Given the description of an element on the screen output the (x, y) to click on. 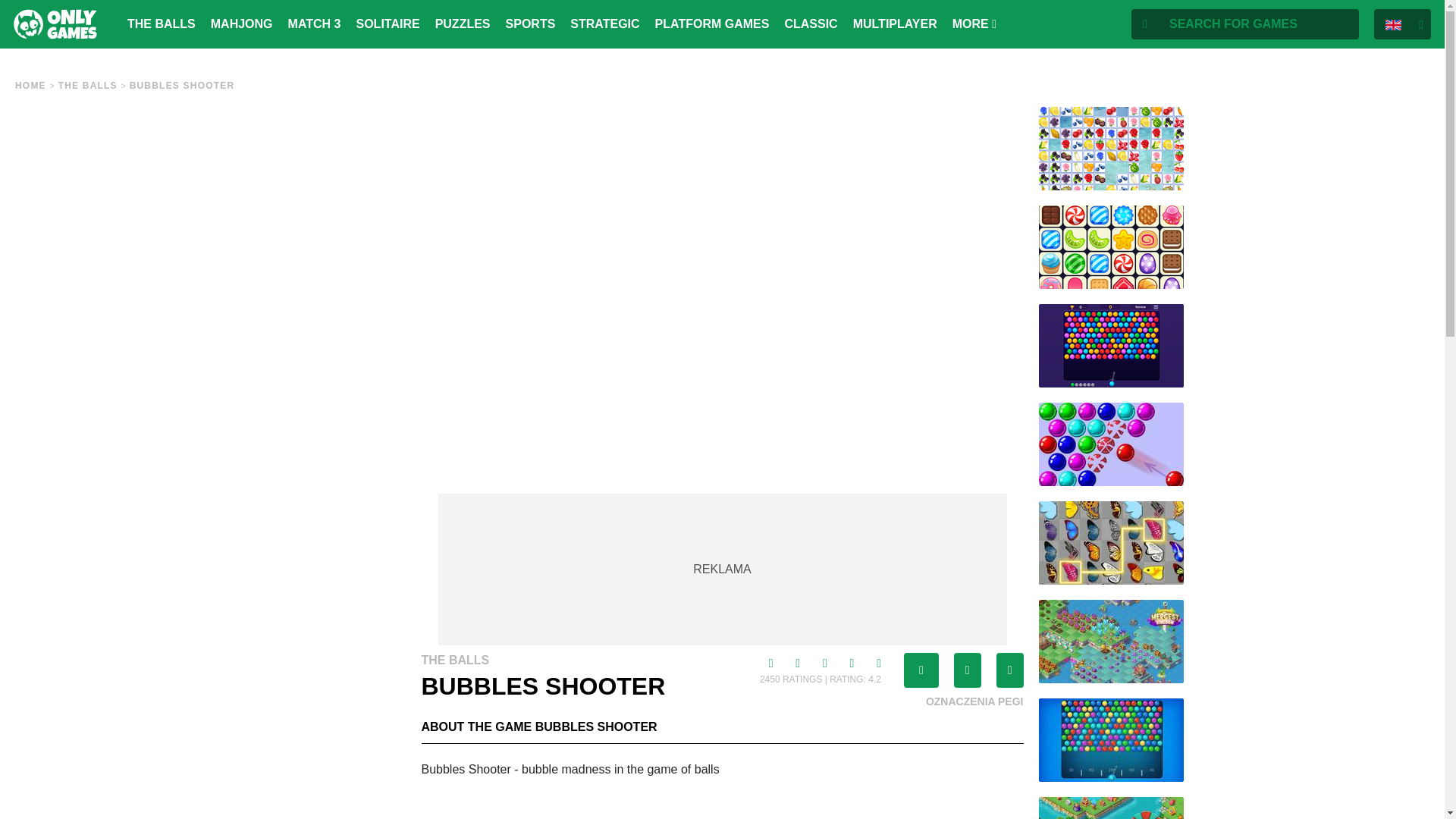
MAHJONG (242, 23)
HOME (30, 85)
MATCH 3 (314, 23)
PUZZLES (462, 23)
CLASSIC (810, 23)
SPORTS (530, 23)
SOLITAIRE (387, 23)
Share this game (921, 669)
THE BALLS (87, 85)
MULTIPLAYER (895, 23)
